Given the description of an element on the screen output the (x, y) to click on. 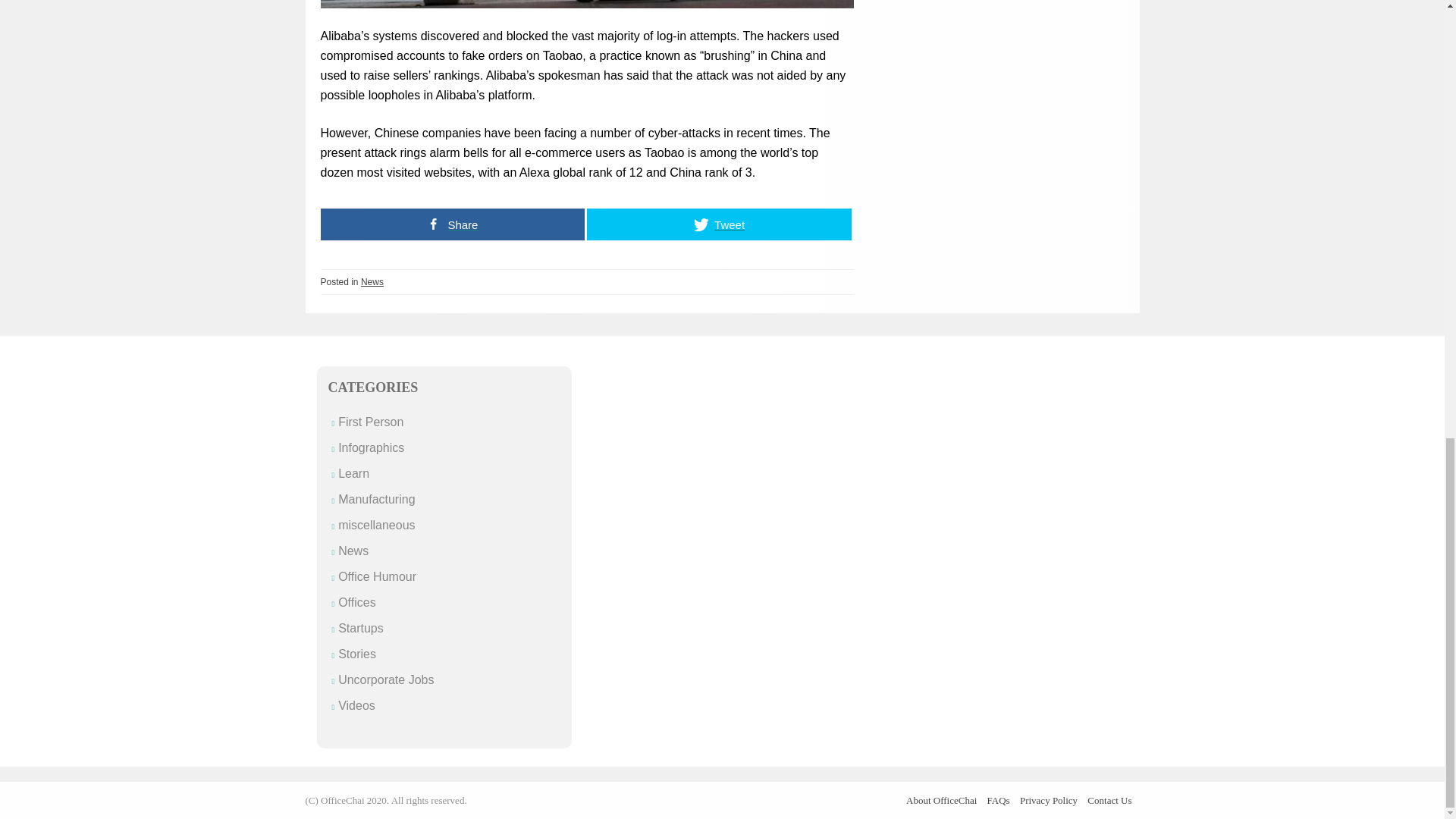
Office Humour (376, 576)
Tweet (718, 224)
Infographics (370, 447)
News (352, 550)
Learn (353, 472)
Videos (356, 705)
First Person (370, 421)
Startups (360, 627)
News (372, 281)
Stories (356, 653)
